Given the description of an element on the screen output the (x, y) to click on. 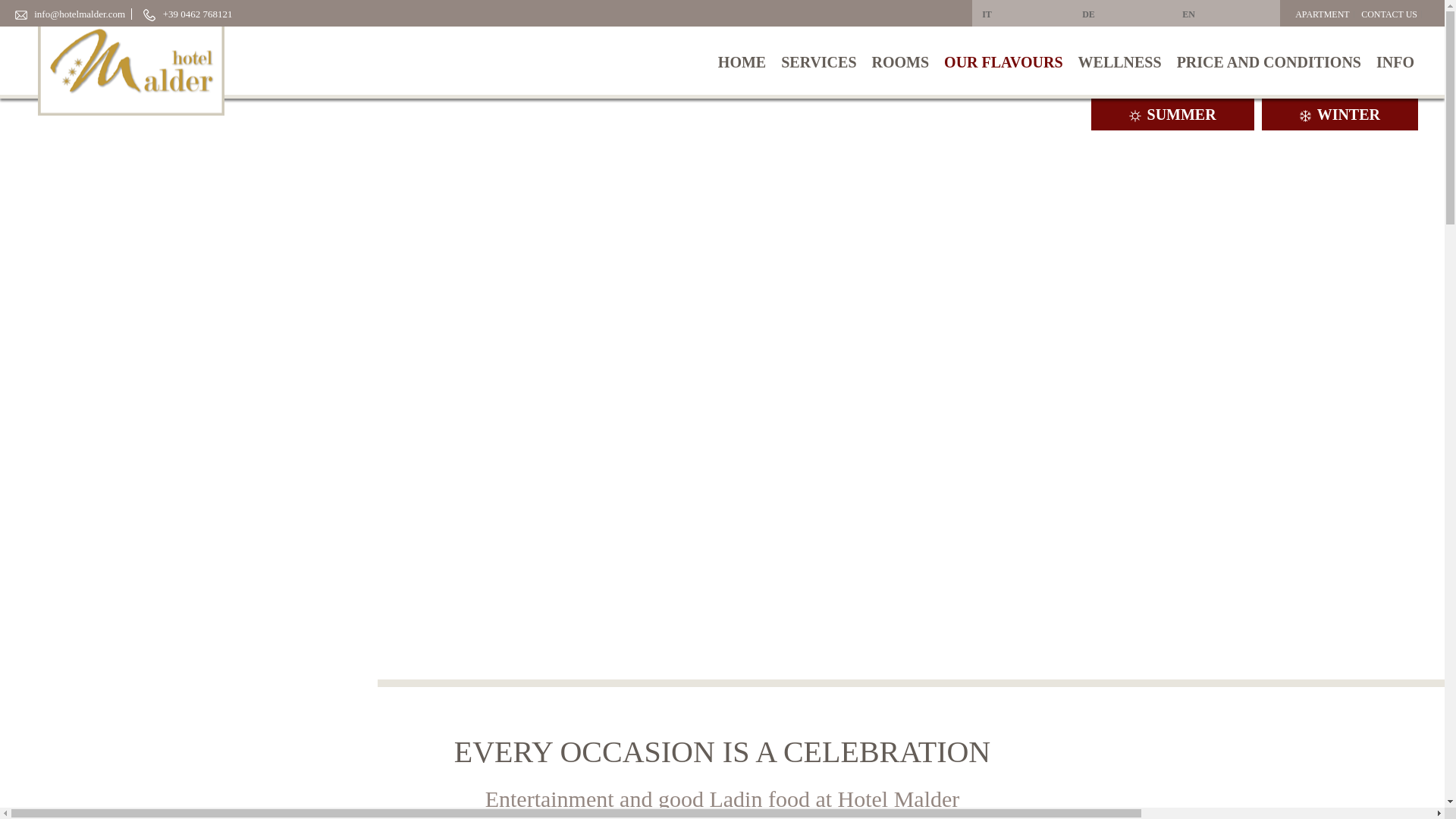
PRICE AND CONDITIONS (1268, 60)
HOME (741, 60)
CONTACT US (1389, 14)
WINTER (1340, 116)
HOME (741, 60)
WELLNESS (1119, 60)
APARTMENT (1322, 14)
OUR FLAVOURS (1003, 60)
ROOMS (900, 60)
WELLNESS (1119, 60)
Soraga (130, 60)
DE (1125, 14)
ROOMS (900, 60)
PRICE AND CONDITIONS (1268, 60)
OUR FLAVOURS (1003, 60)
